Given the description of an element on the screen output the (x, y) to click on. 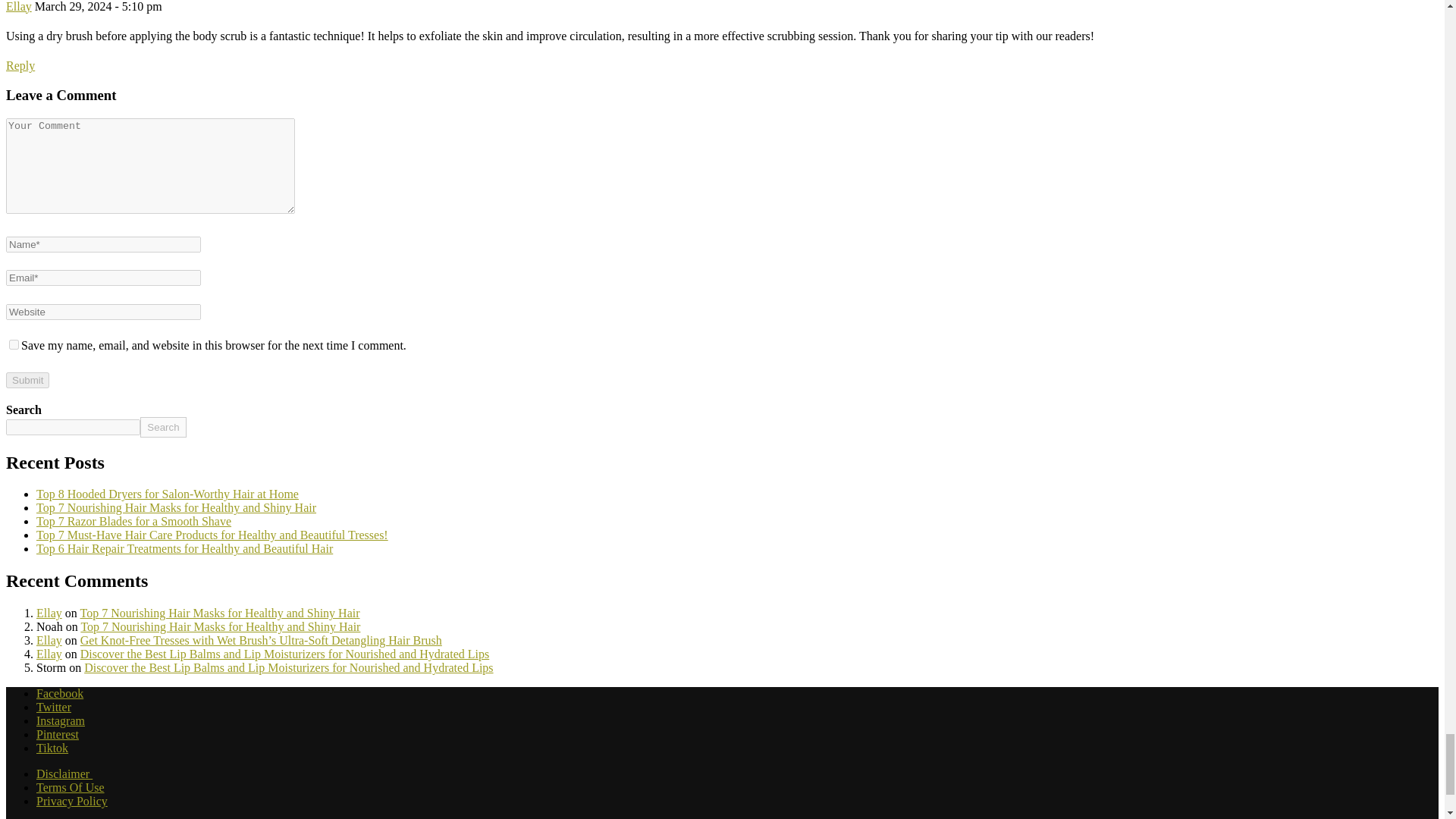
Submit (27, 380)
yes (13, 344)
